Given the description of an element on the screen output the (x, y) to click on. 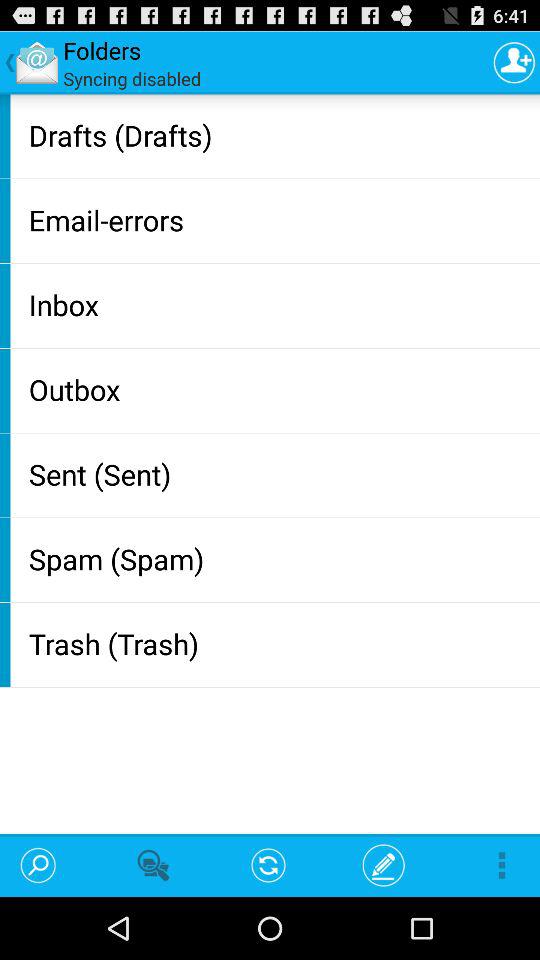
jump to trash (trash) icon (280, 643)
